Given the description of an element on the screen output the (x, y) to click on. 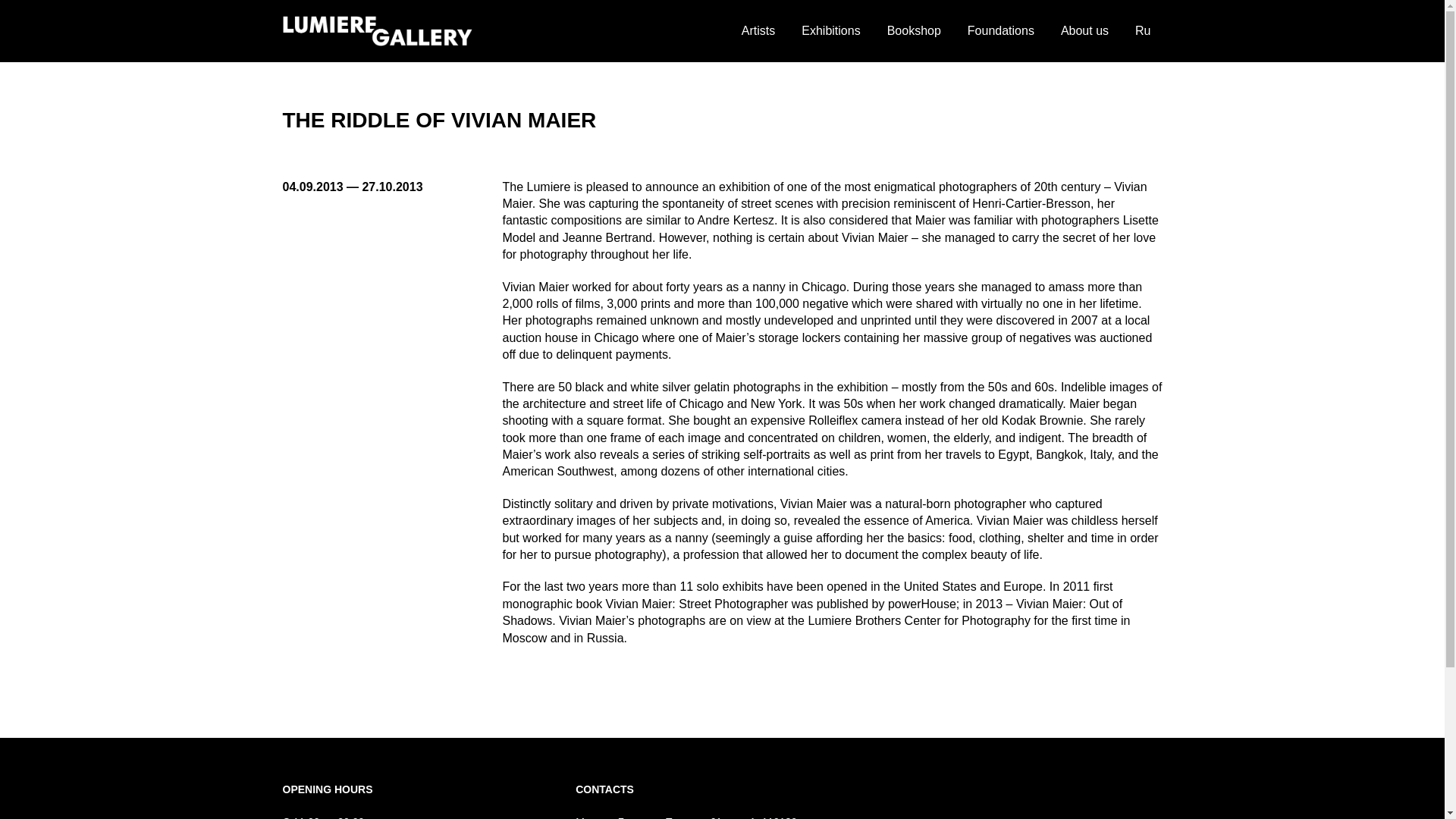
Exhibitions (830, 30)
About us (1084, 30)
Ru (1142, 30)
Artists (758, 30)
Foundations (1000, 30)
Bookshop (914, 30)
